Given the description of an element on the screen output the (x, y) to click on. 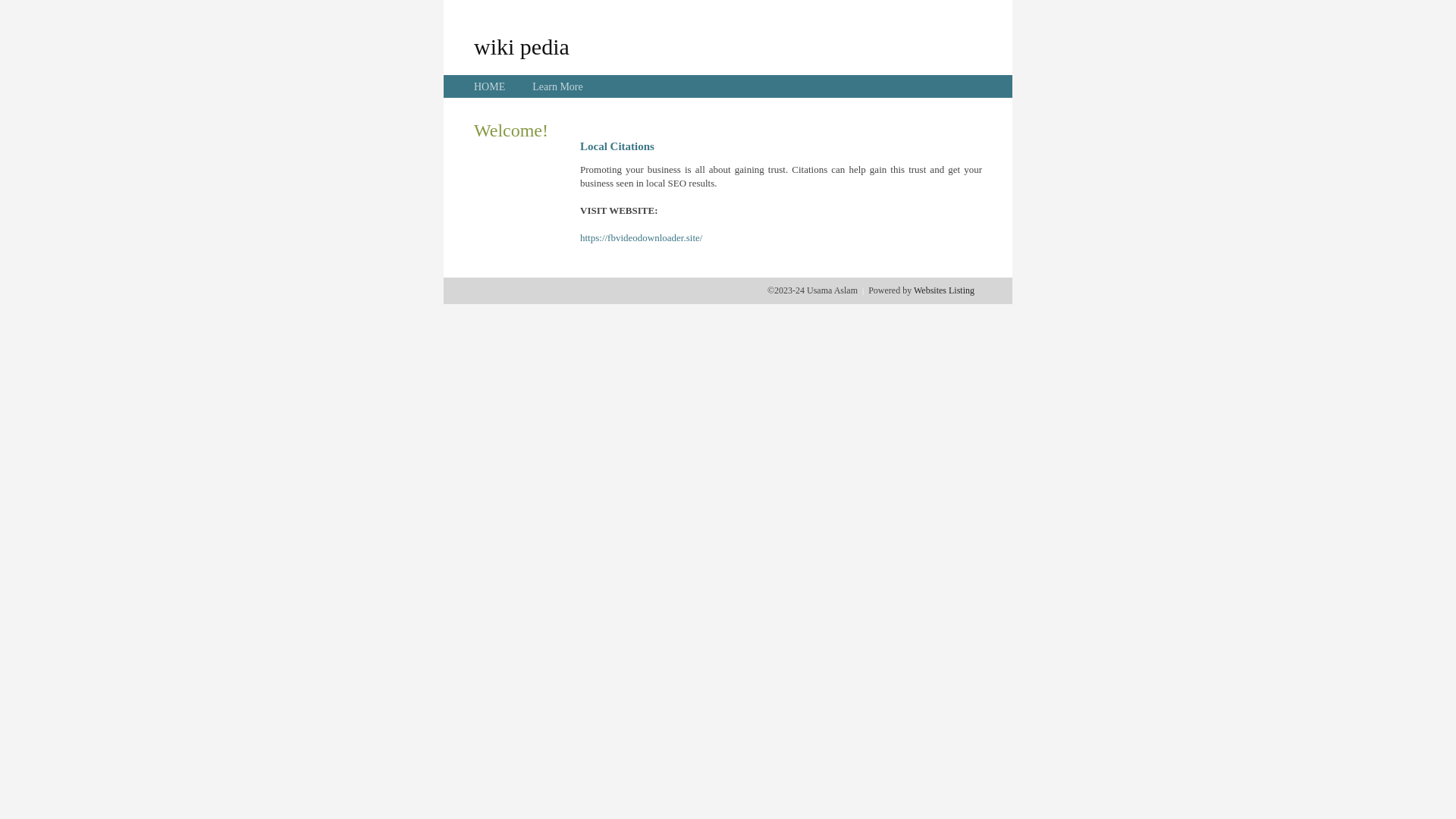
Websites Listing Element type: text (943, 290)
wiki pedia Element type: text (521, 46)
Learn More Element type: text (557, 86)
HOME Element type: text (489, 86)
https://fbvideodownloader.site/ Element type: text (641, 237)
